Given the description of an element on the screen output the (x, y) to click on. 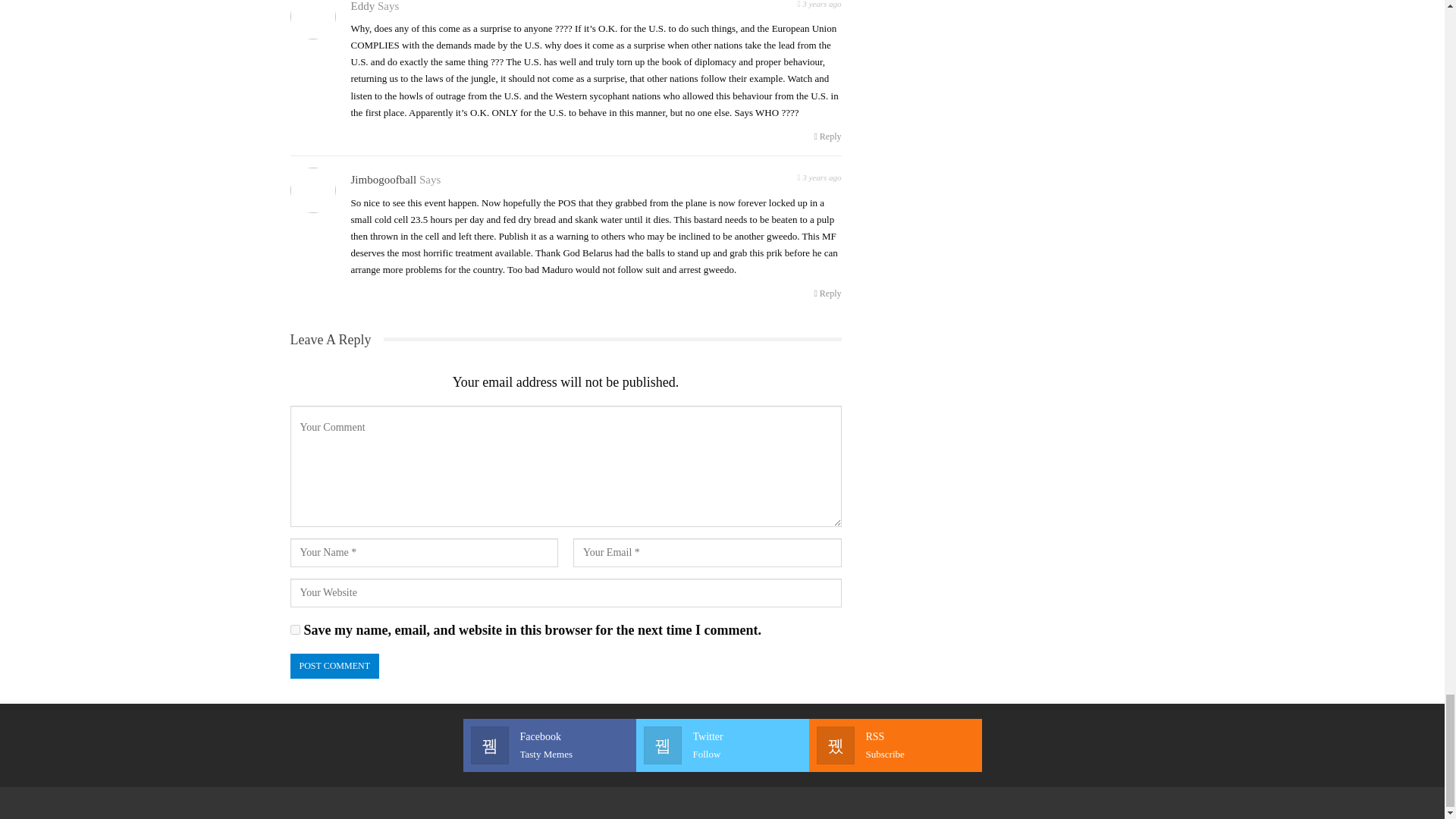
Tuesday, May 25, 2021, 9:37 am (818, 5)
Reply (827, 136)
yes (294, 629)
Post Comment (333, 665)
Tuesday, May 25, 2021, 5:39 pm (818, 176)
